Given the description of an element on the screen output the (x, y) to click on. 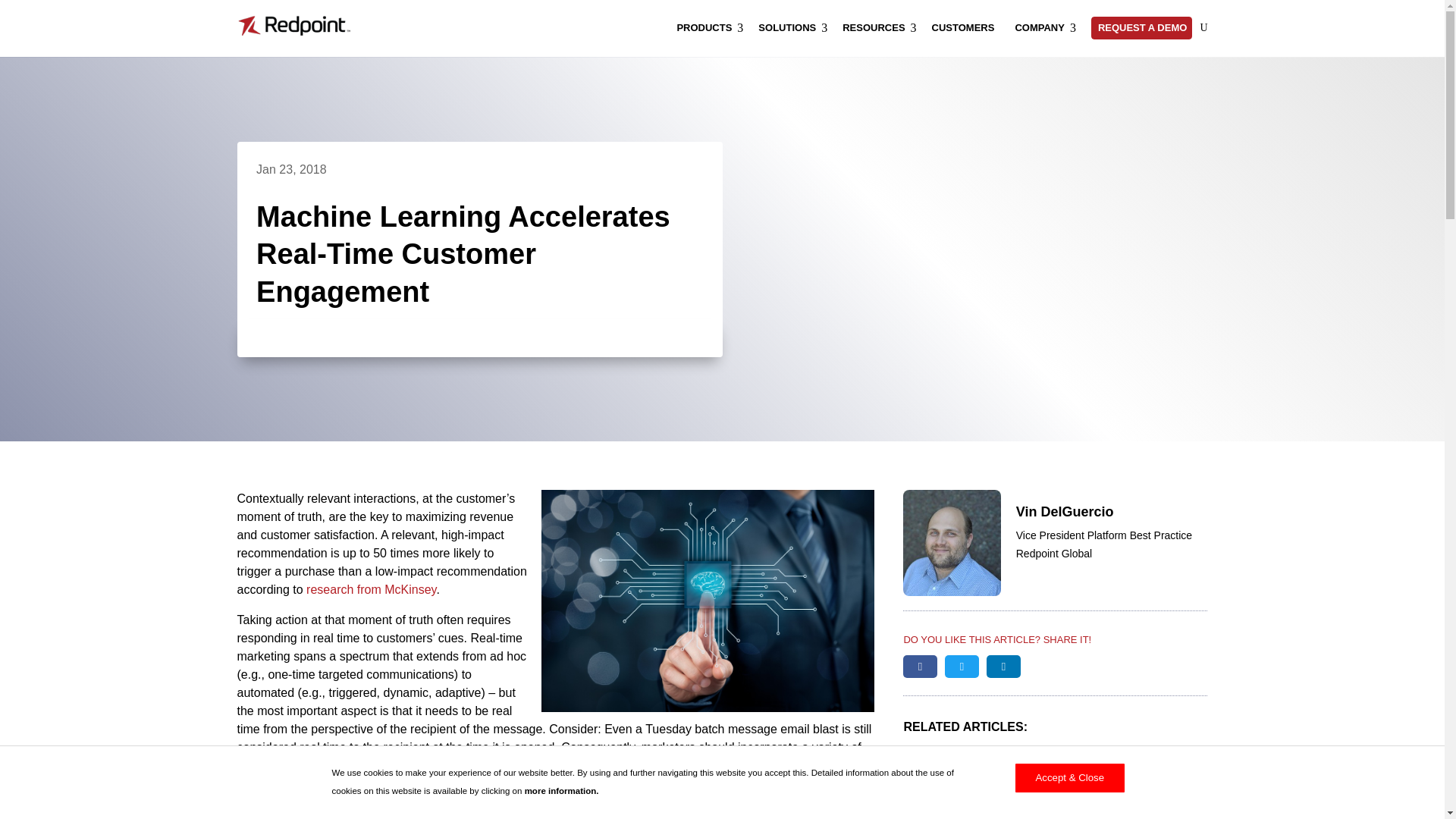
REQUEST A DEMO (1141, 27)
Redpoint (292, 25)
CUSTOMERS (965, 27)
